Given the description of an element on the screen output the (x, y) to click on. 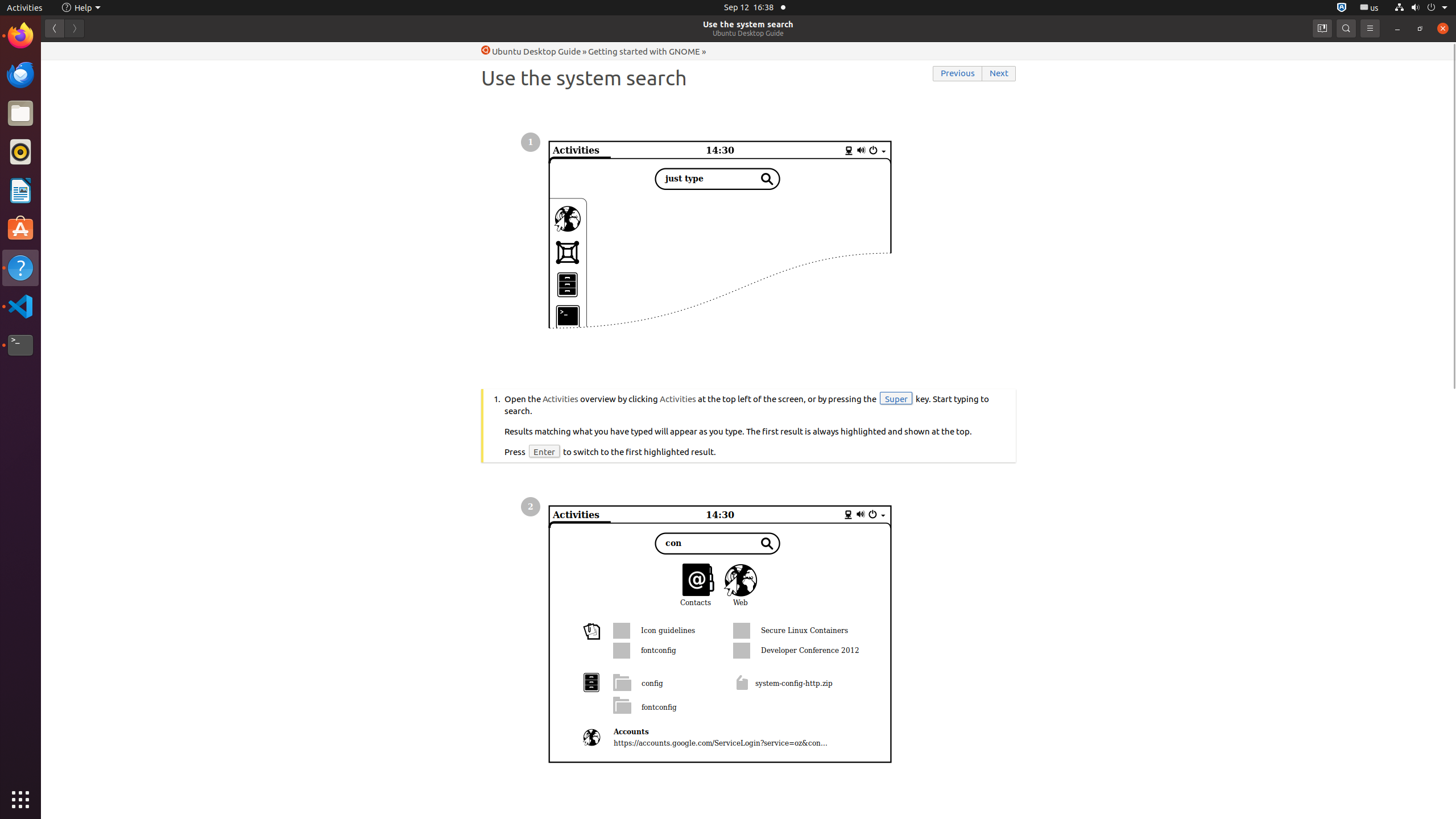
Minimize Element type: push-button (1397, 27)
Close Element type: push-button (1442, 27)
